Given the description of an element on the screen output the (x, y) to click on. 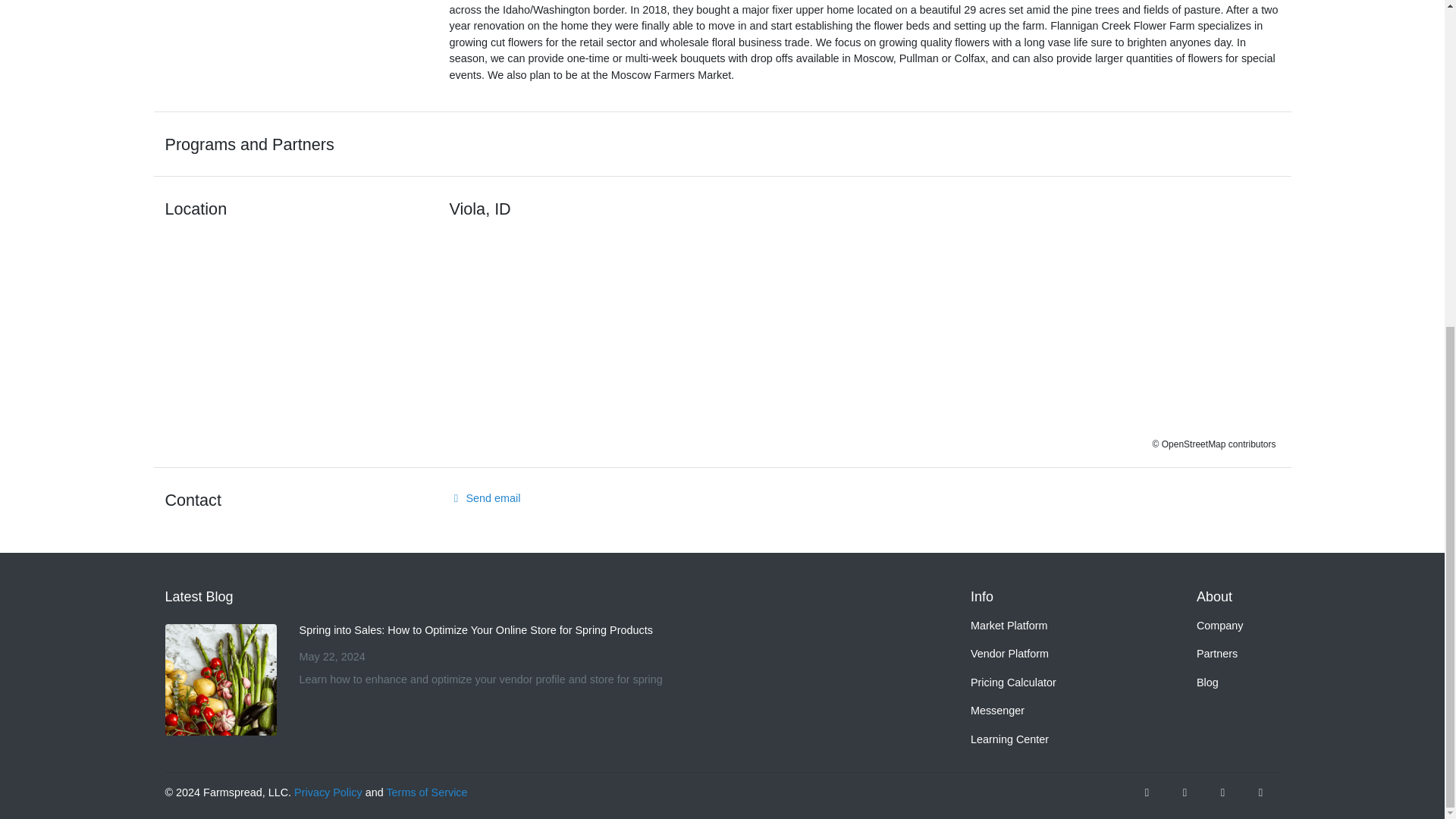
Send email (483, 498)
Messenger (1054, 710)
Vendor Platform (1054, 654)
Blog (1219, 683)
Learning Center (1054, 739)
Company (1219, 625)
Terms of Service (426, 792)
Partners (1219, 654)
Market Platform (1054, 625)
Pricing Calculator (1054, 683)
